Given the description of an element on the screen output the (x, y) to click on. 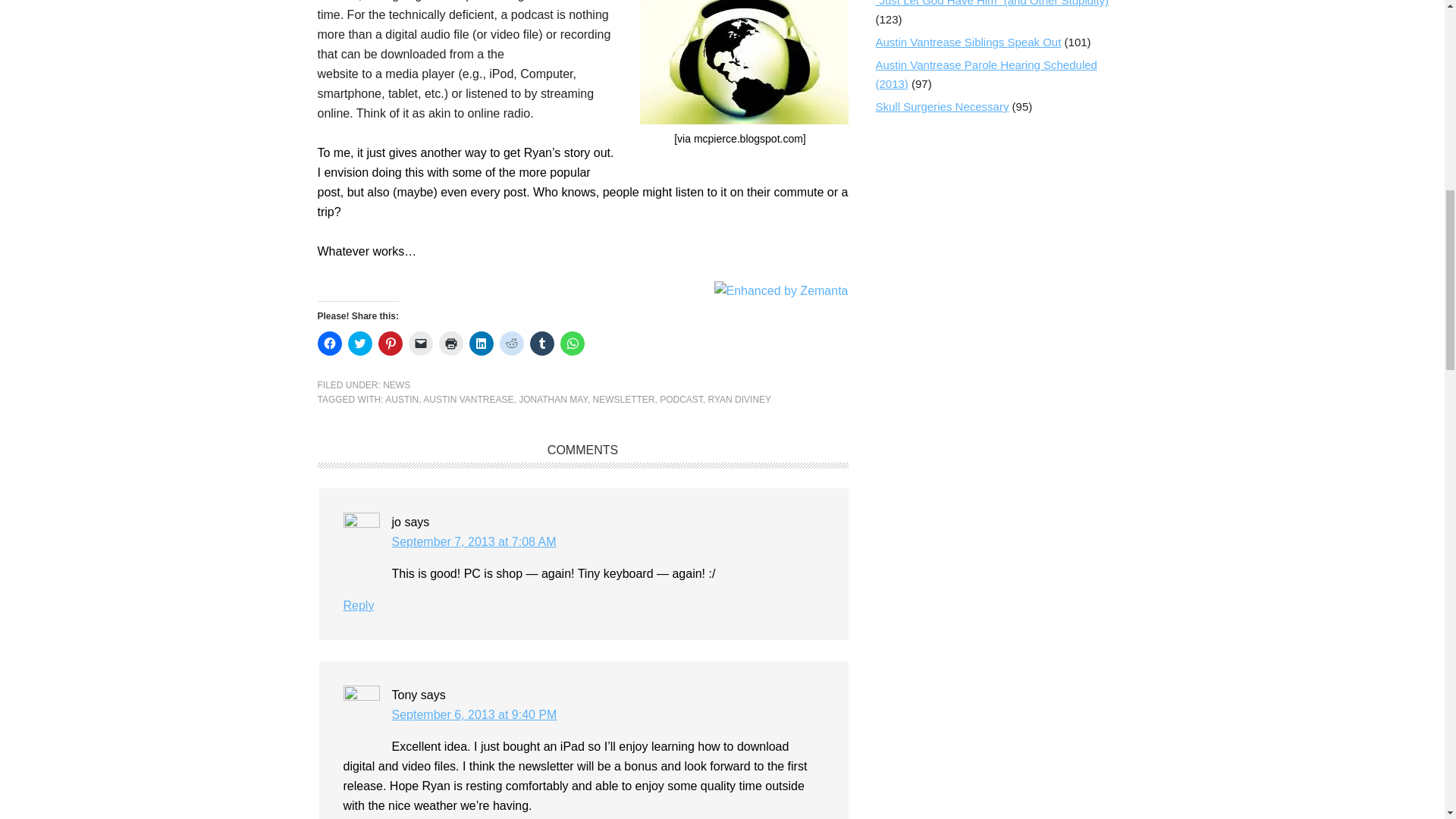
Click to share on Pinterest (389, 343)
Click to share on Reddit (510, 343)
Click to print (450, 343)
Click to share on Twitter (359, 343)
Click to email a link to a friend (419, 343)
Click to share on Facebook (328, 343)
Click to share on WhatsApp (571, 343)
Click to share on LinkedIn (480, 343)
Click to share on Tumblr (541, 343)
